Given the description of an element on the screen output the (x, y) to click on. 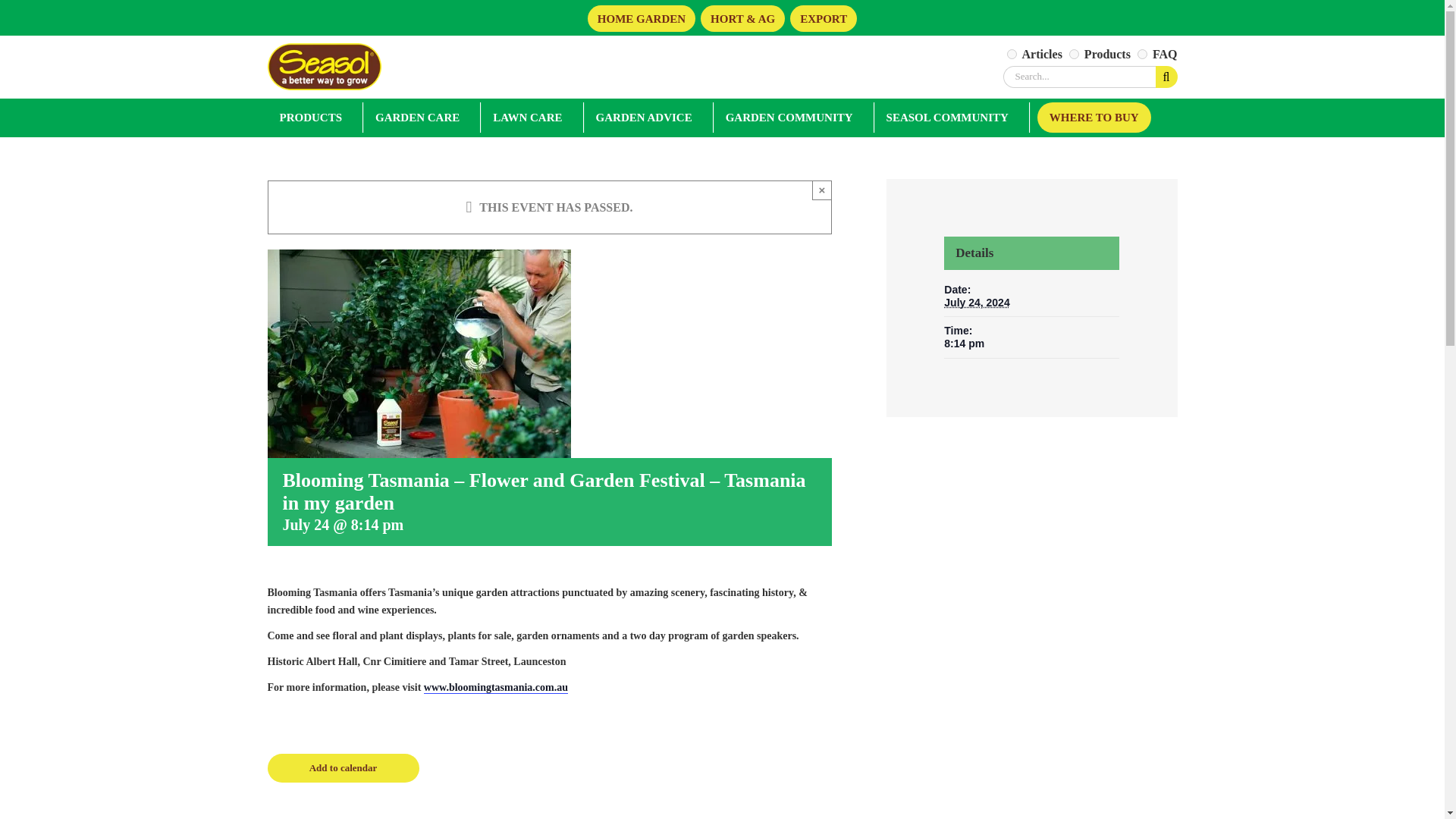
2024-07-24 (1030, 343)
PRODUCTS (312, 116)
EXPORT (823, 17)
2024-07-24 (976, 302)
GARDEN CARE (419, 116)
post (1011, 53)
product (1073, 53)
HOME GARDEN (641, 17)
